Given the description of an element on the screen output the (x, y) to click on. 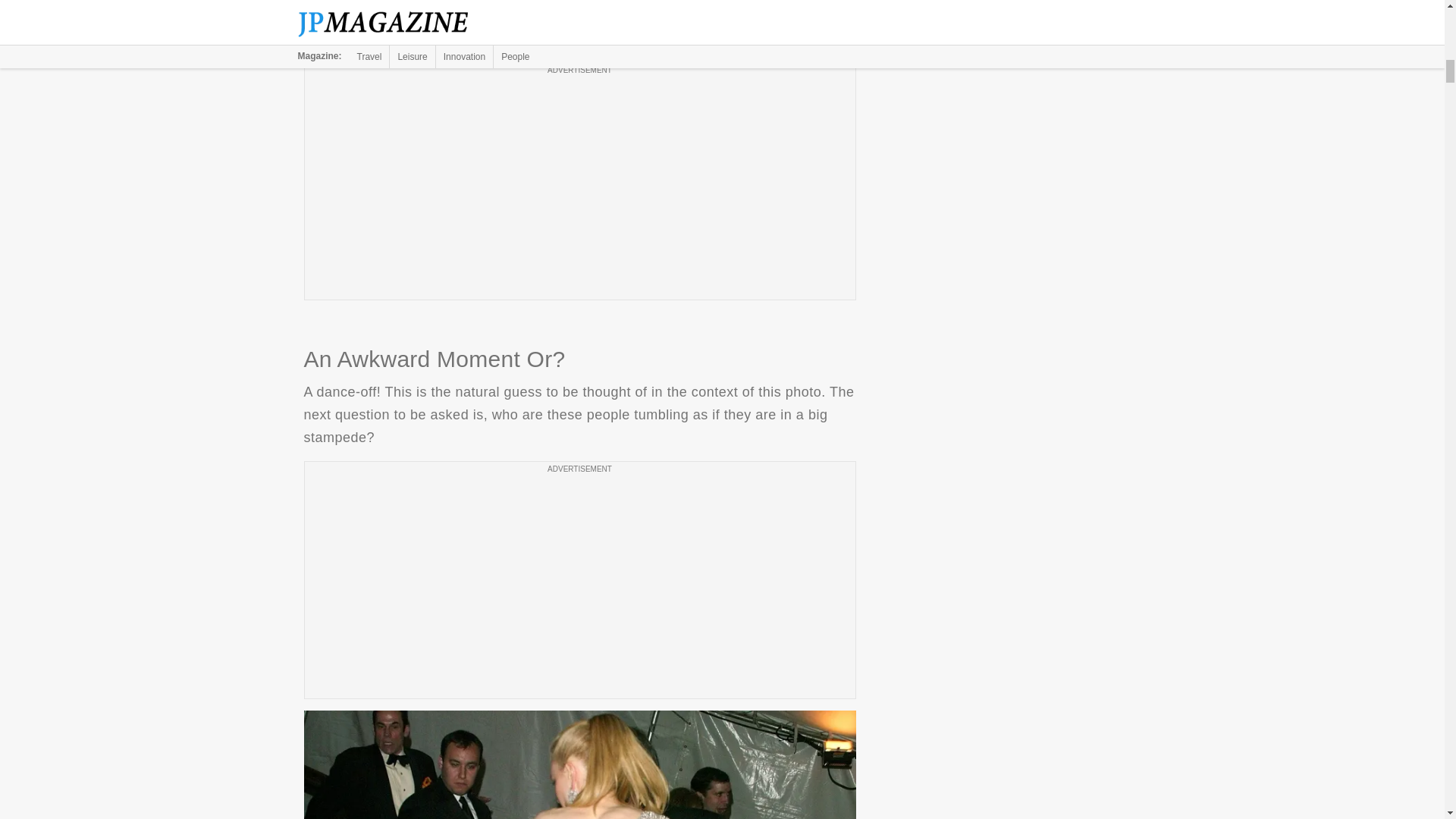
An Awkward Moment Or? (579, 764)
